Given the description of an element on the screen output the (x, y) to click on. 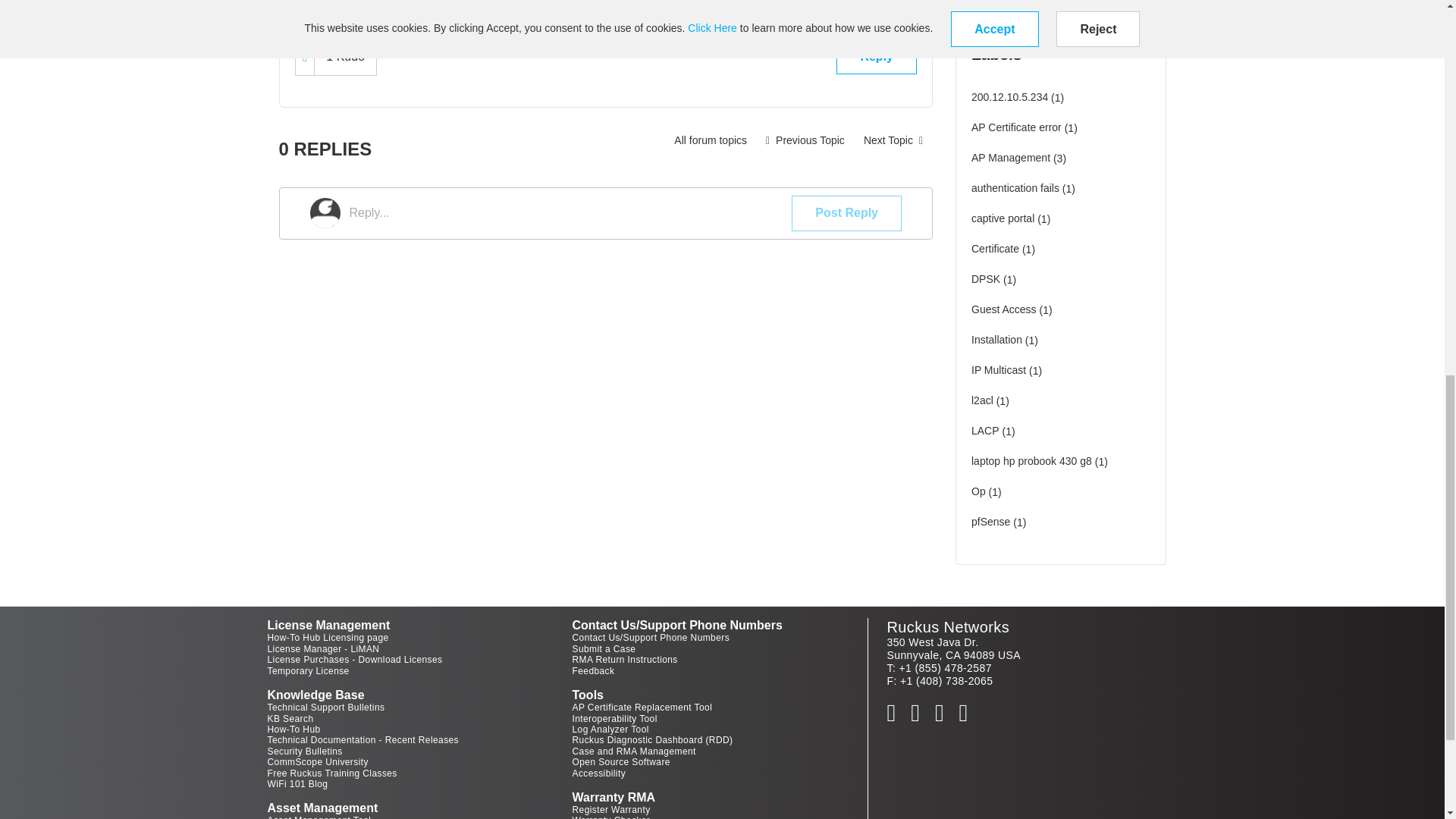
Unleashed (710, 140)
Unleashed captive portals and firewalls (893, 140)
Click here to see who gave kudos to this post. (344, 56)
